Given the description of an element on the screen output the (x, y) to click on. 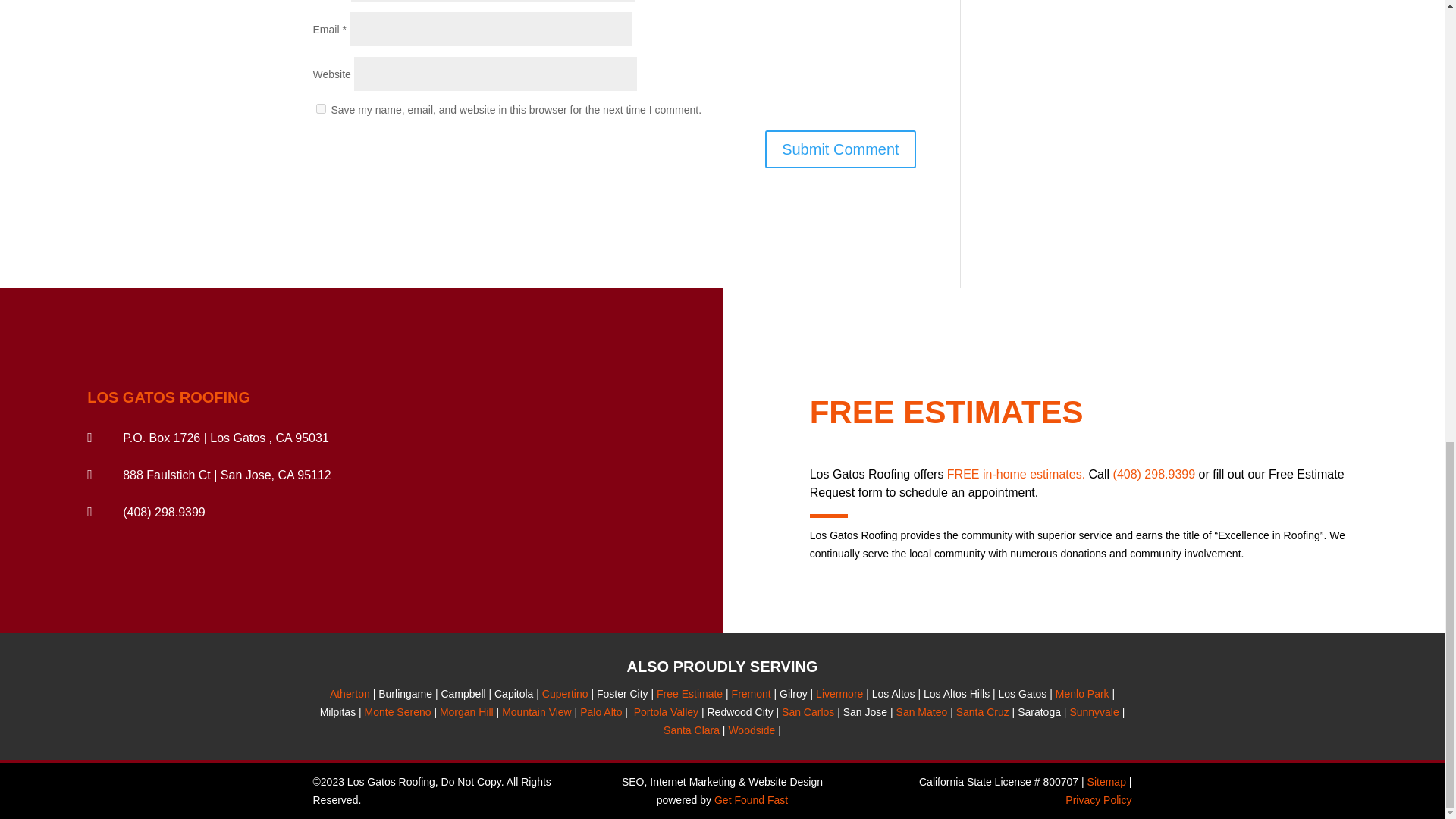
LOS GATOS ROOFING (168, 397)
Submit Comment (840, 149)
FREE in-home estimates. (1015, 473)
Submit Comment (840, 149)
yes (319, 108)
